Given the description of an element on the screen output the (x, y) to click on. 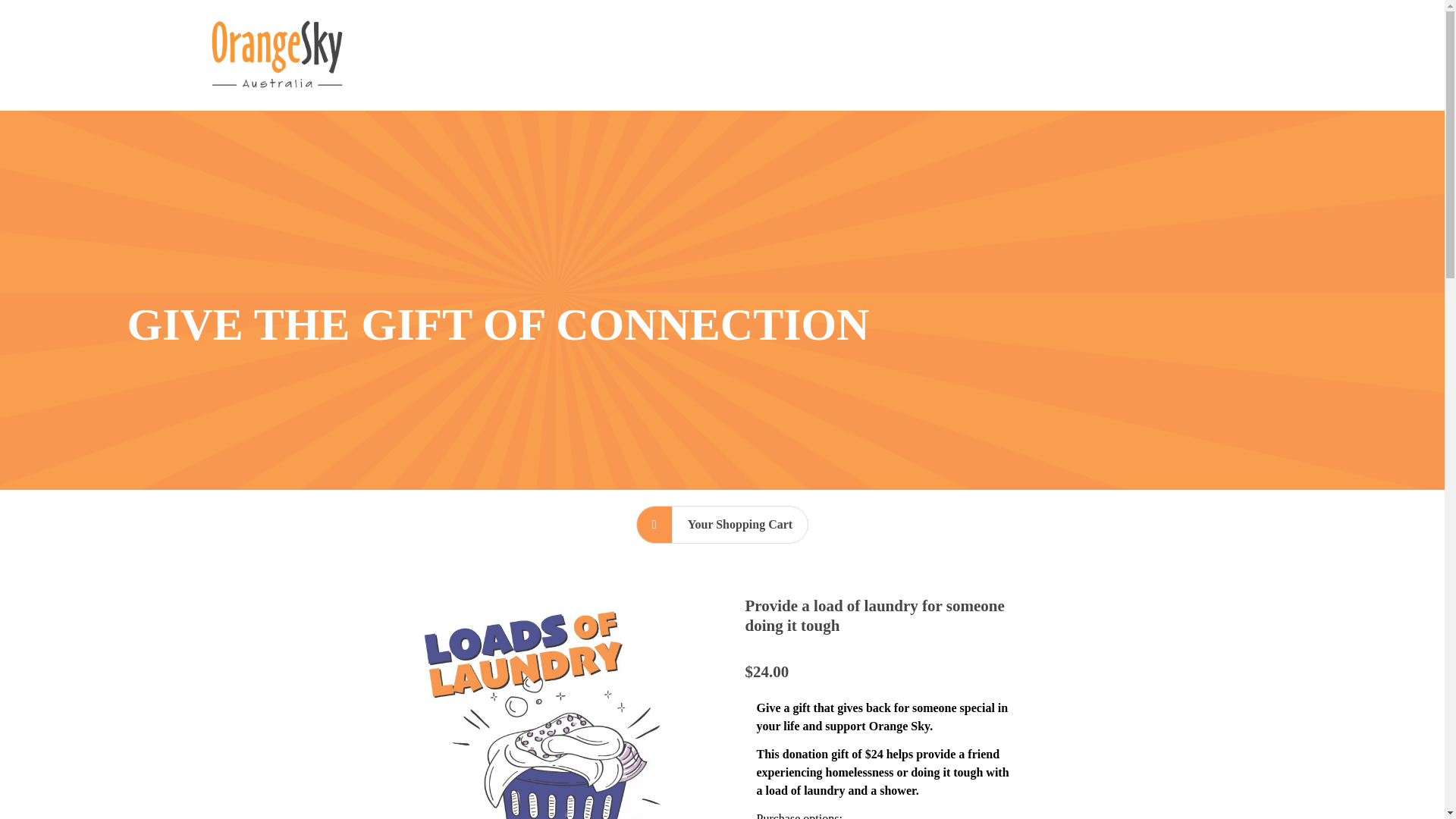
Your Shopping Cart (739, 524)
